Given the description of an element on the screen output the (x, y) to click on. 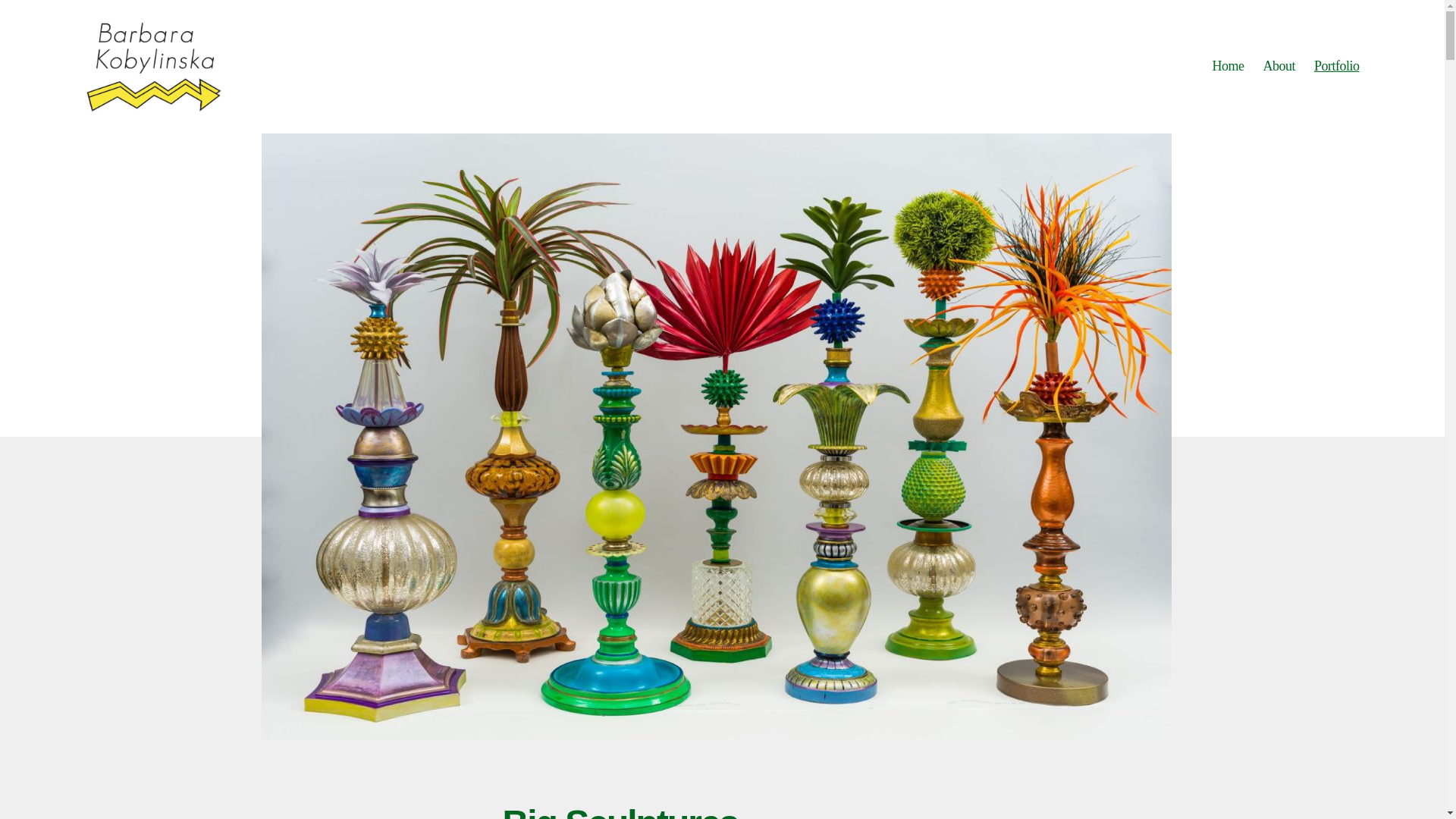
About (1278, 66)
Portfolio (1336, 66)
Home (1227, 66)
